Given the description of an element on the screen output the (x, y) to click on. 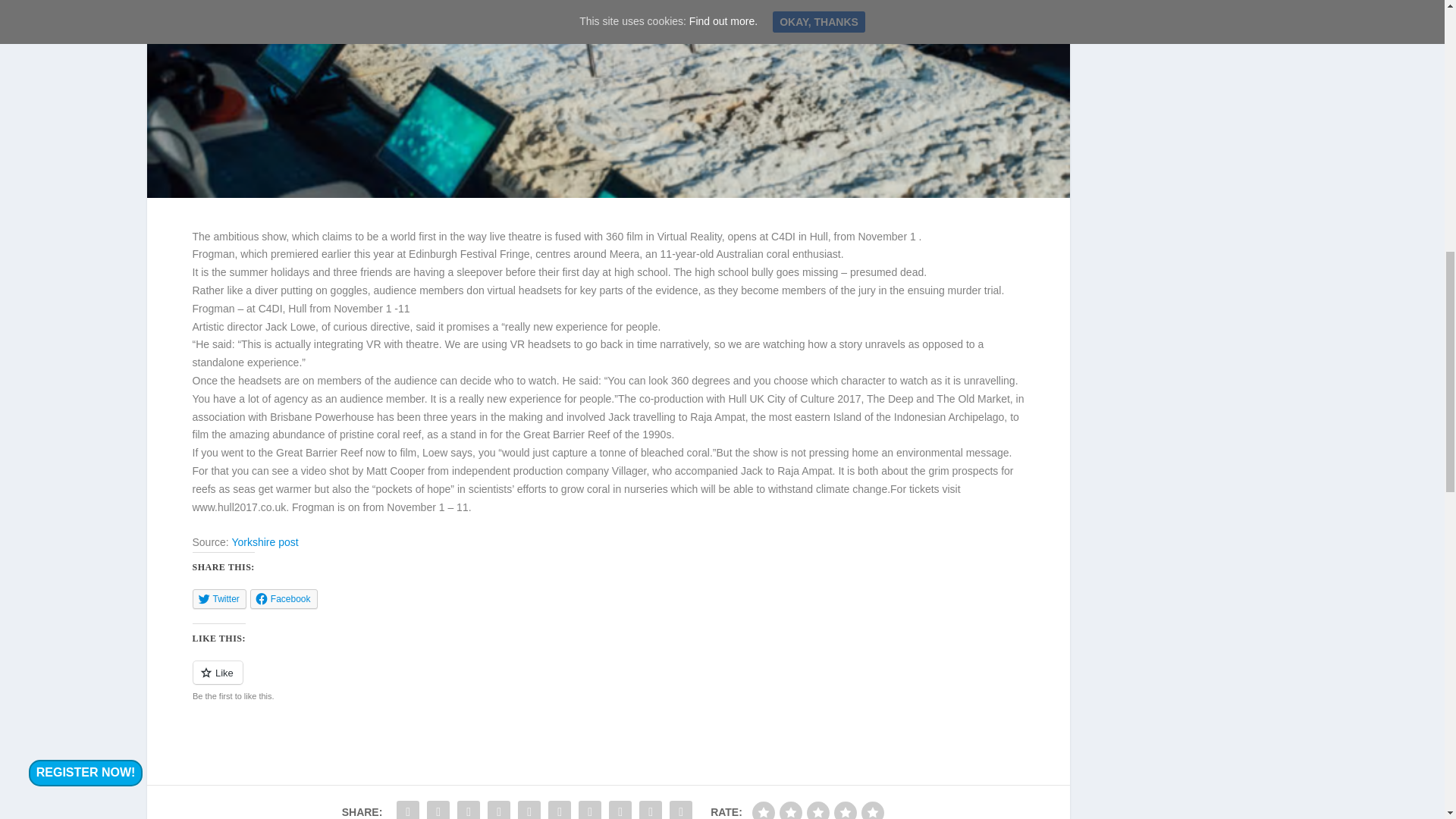
Click to share on Twitter (219, 598)
Click to share on Facebook (283, 598)
